Given the description of an element on the screen output the (x, y) to click on. 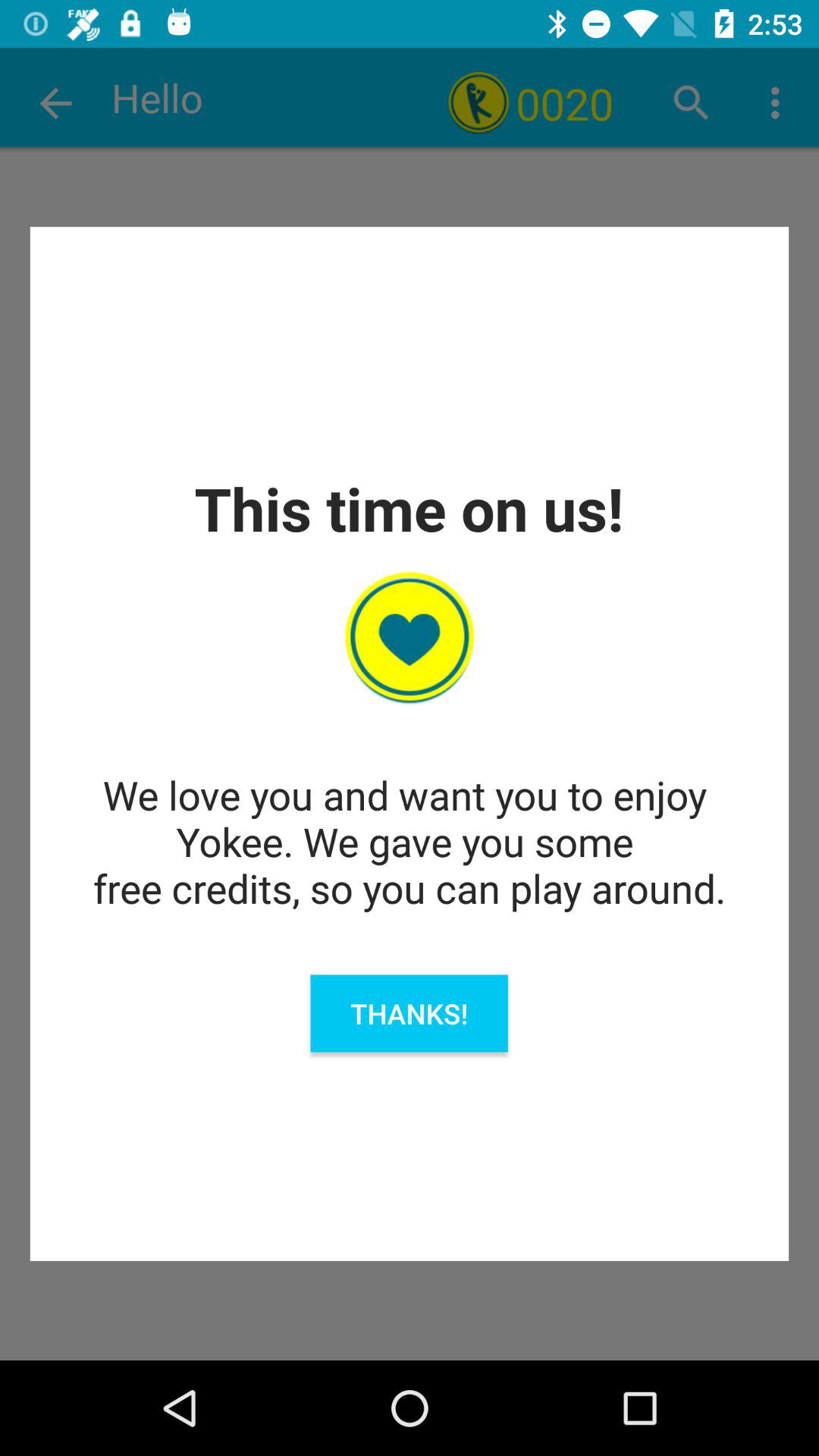
turn off thanks! (408, 1013)
